Given the description of an element on the screen output the (x, y) to click on. 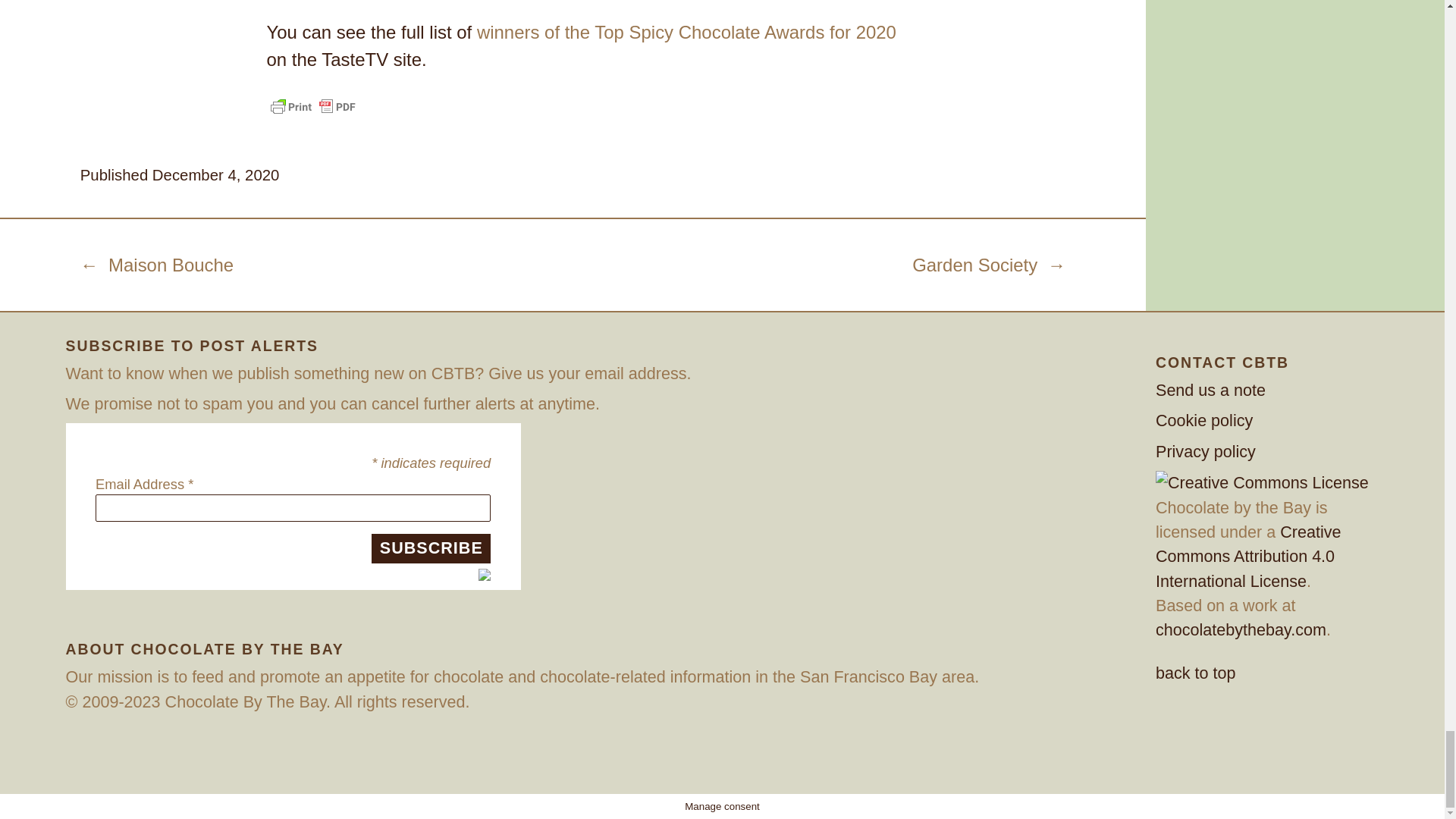
Subscribe (430, 548)
winners of the Top Spicy Chocolate Awards for 2020 (686, 32)
